Given the description of an element on the screen output the (x, y) to click on. 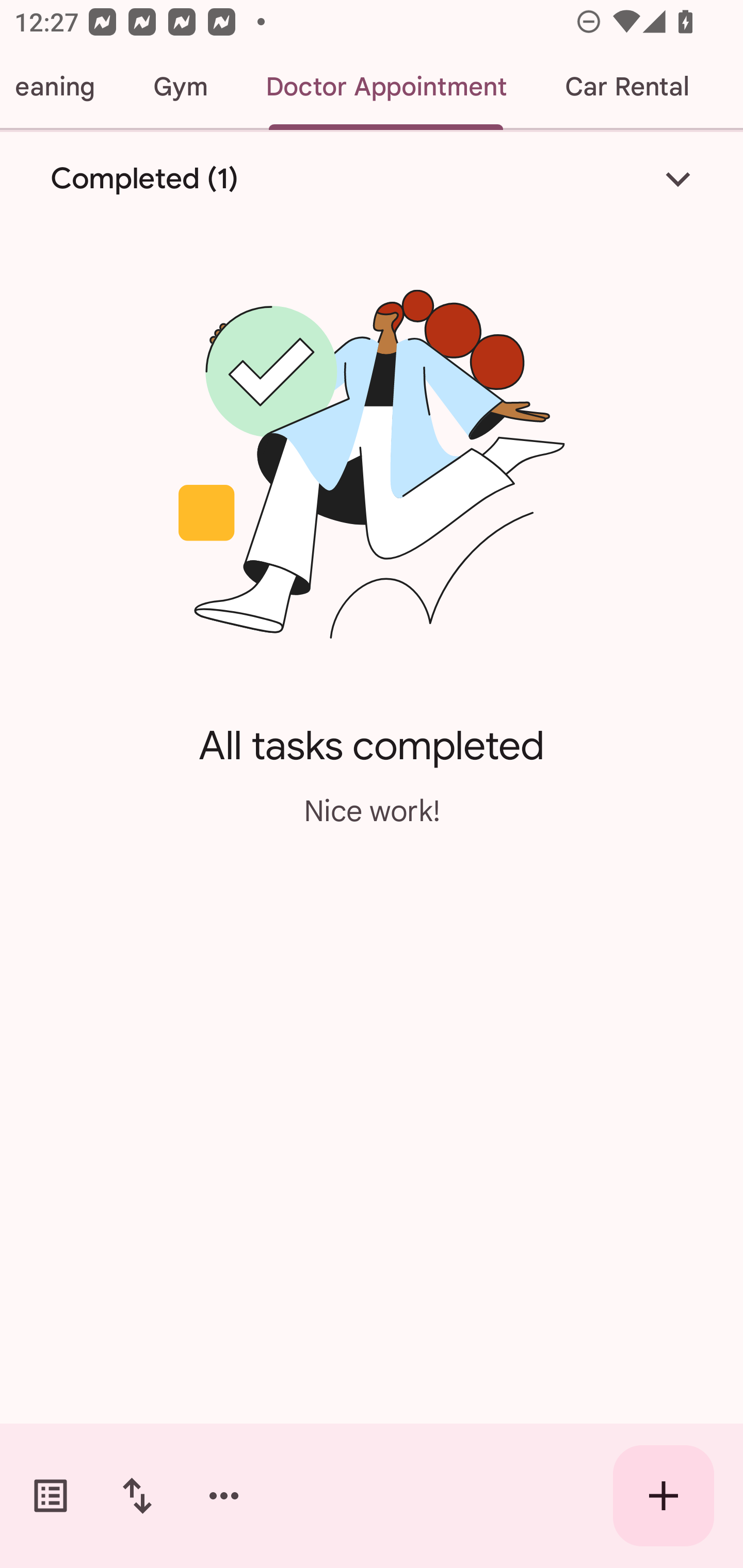
Cleaning (62, 86)
Gym (180, 86)
Car Rental (626, 86)
Completed (1) (371, 178)
Switch task lists (50, 1495)
Create new task (663, 1495)
Change sort order (136, 1495)
More options (223, 1495)
